Given the description of an element on the screen output the (x, y) to click on. 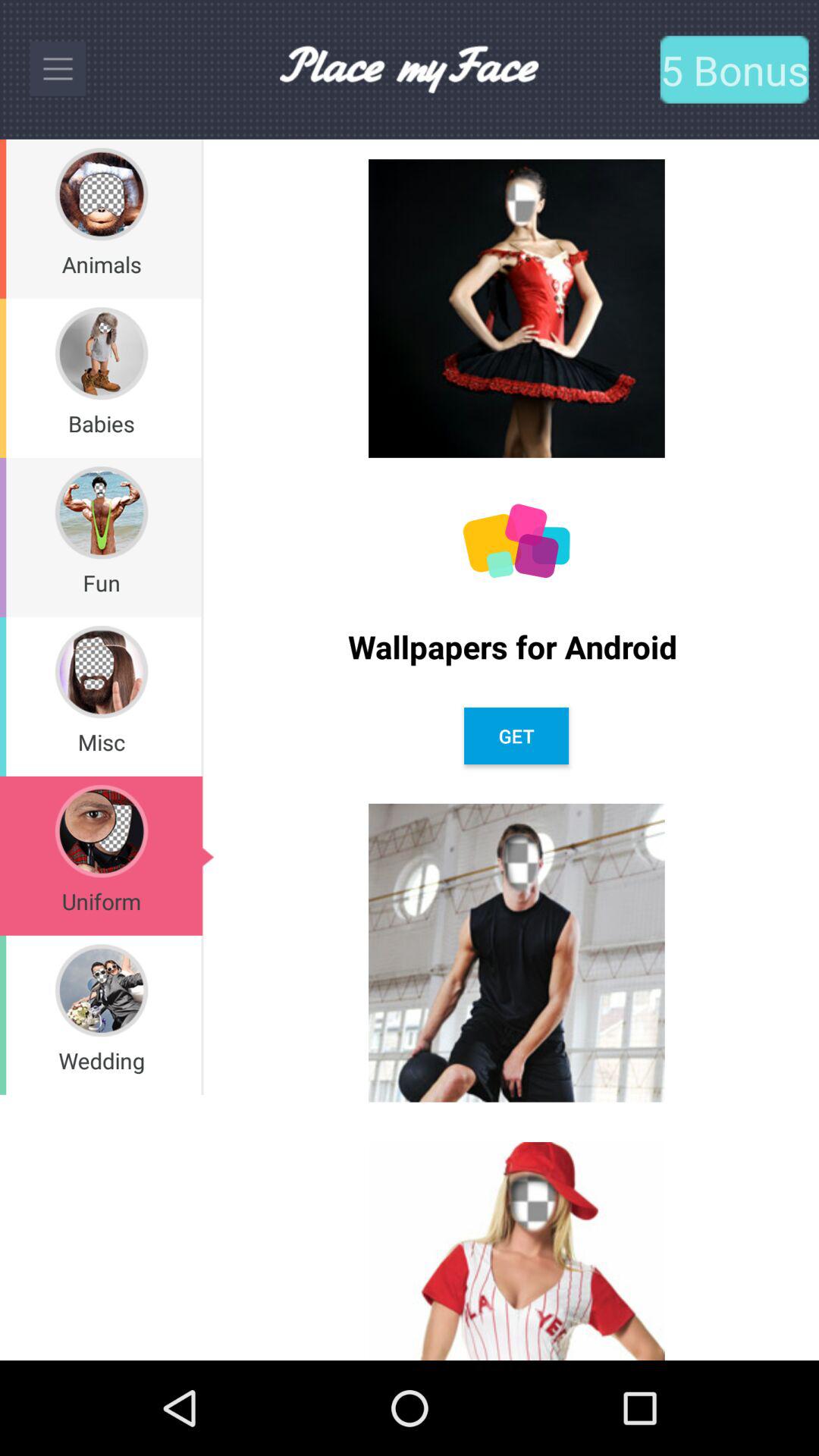
wallpaper for android (516, 541)
